Given the description of an element on the screen output the (x, y) to click on. 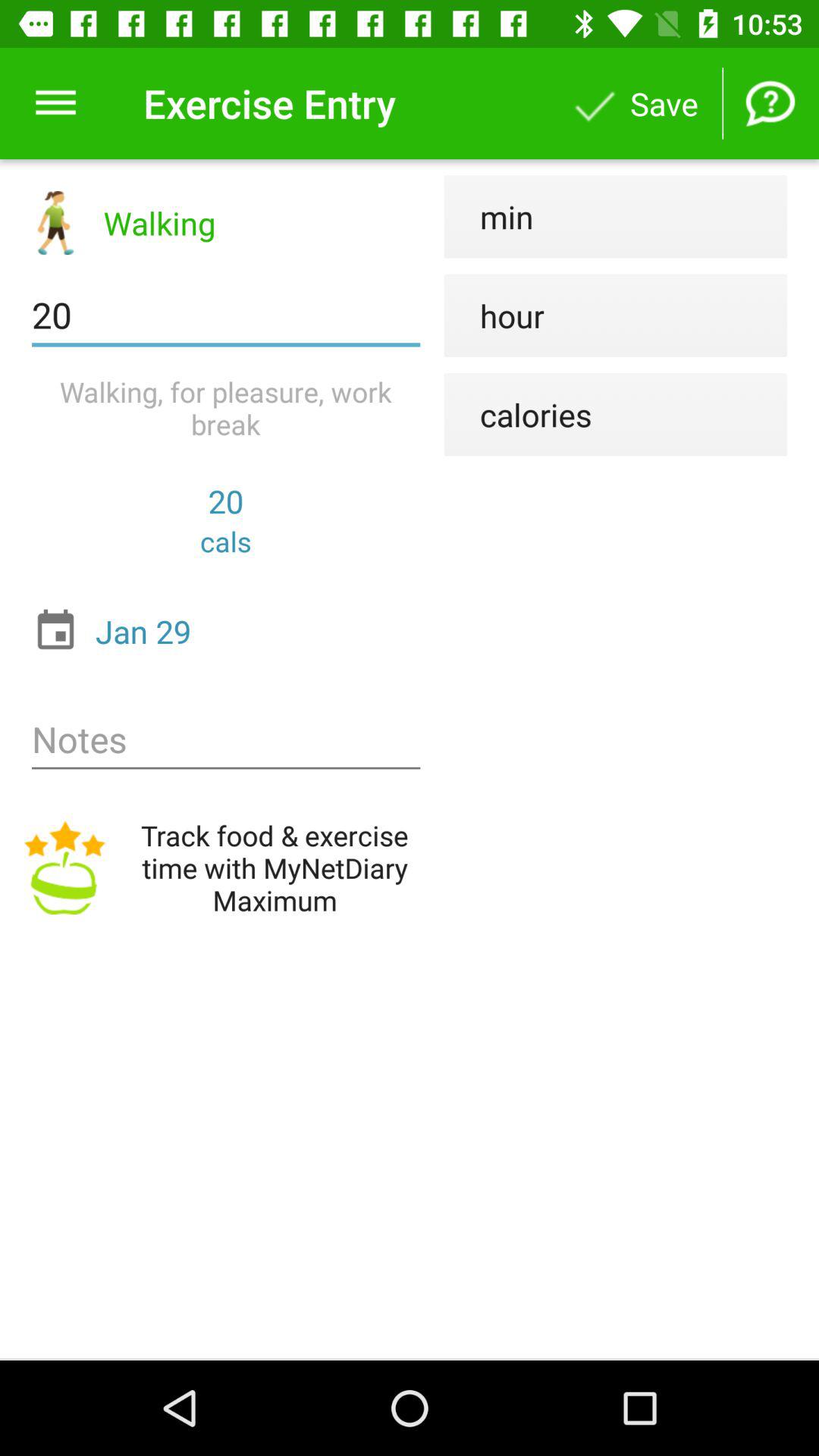
tap icon to the right of the 20 (494, 315)
